Given the description of an element on the screen output the (x, y) to click on. 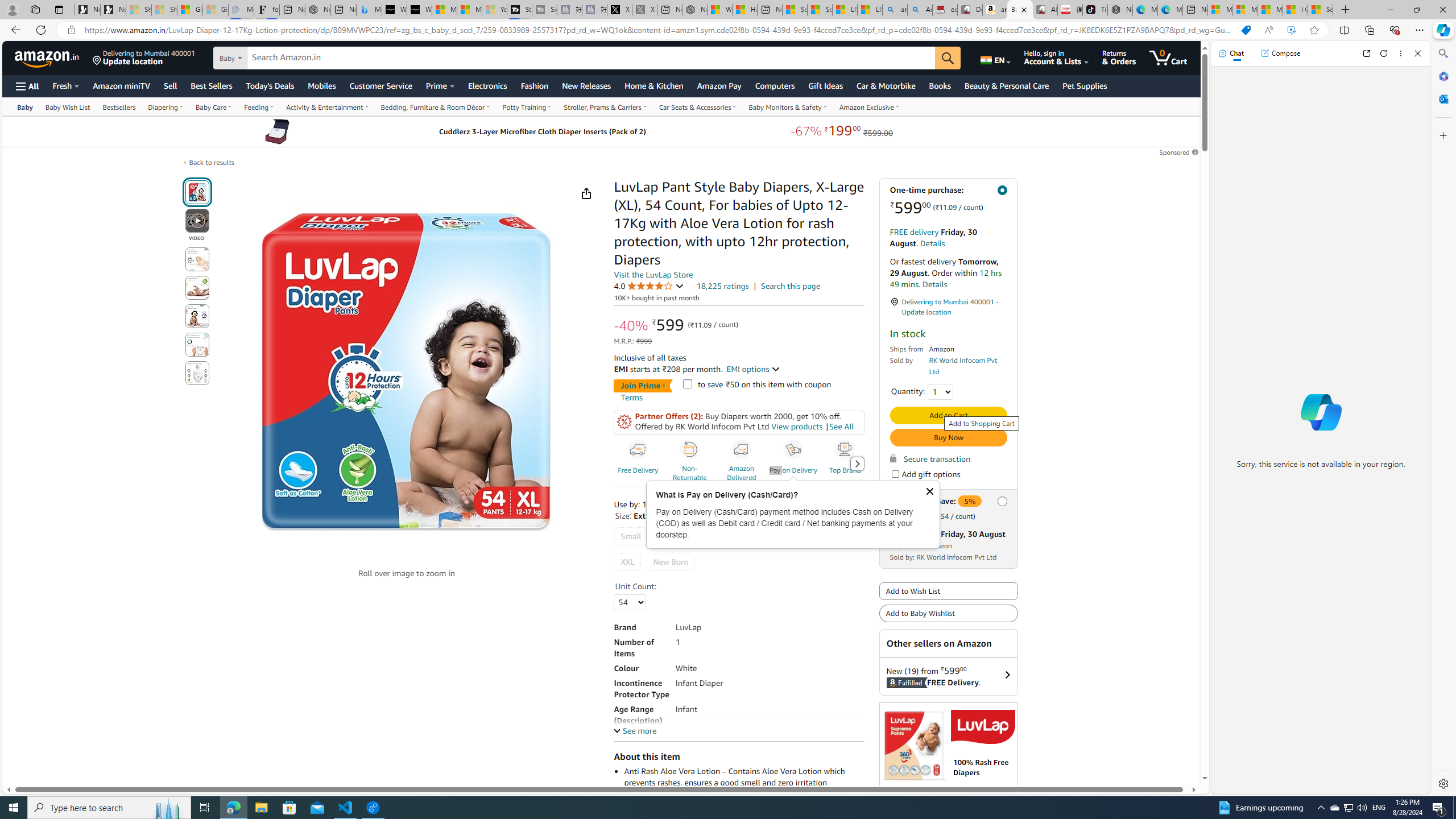
Compose (1280, 52)
Amazon Echo Dot PNG - Search Images (919, 9)
Microsoft Start (1270, 9)
